Given the description of an element on the screen output the (x, y) to click on. 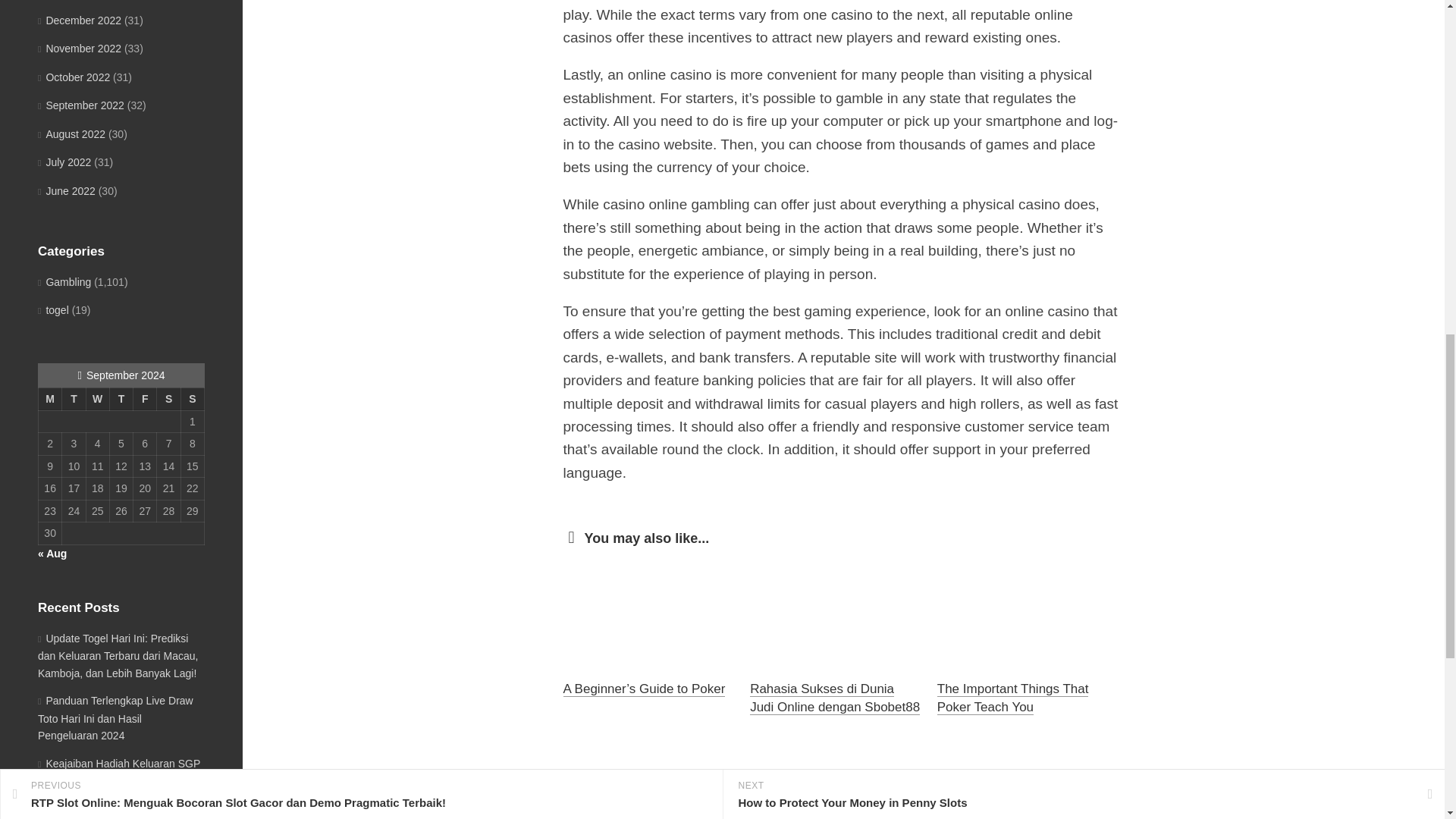
Rahasia Sukses di Dunia Judi Online dengan Sbobet88 (834, 697)
Wednesday (97, 399)
September 2022 (80, 105)
Friday (145, 399)
Thursday (120, 399)
December 2022 (78, 19)
Saturday (168, 399)
The Important Things That Poker Teach You (1013, 697)
Sunday (191, 399)
October 2022 (73, 77)
